Given the description of an element on the screen output the (x, y) to click on. 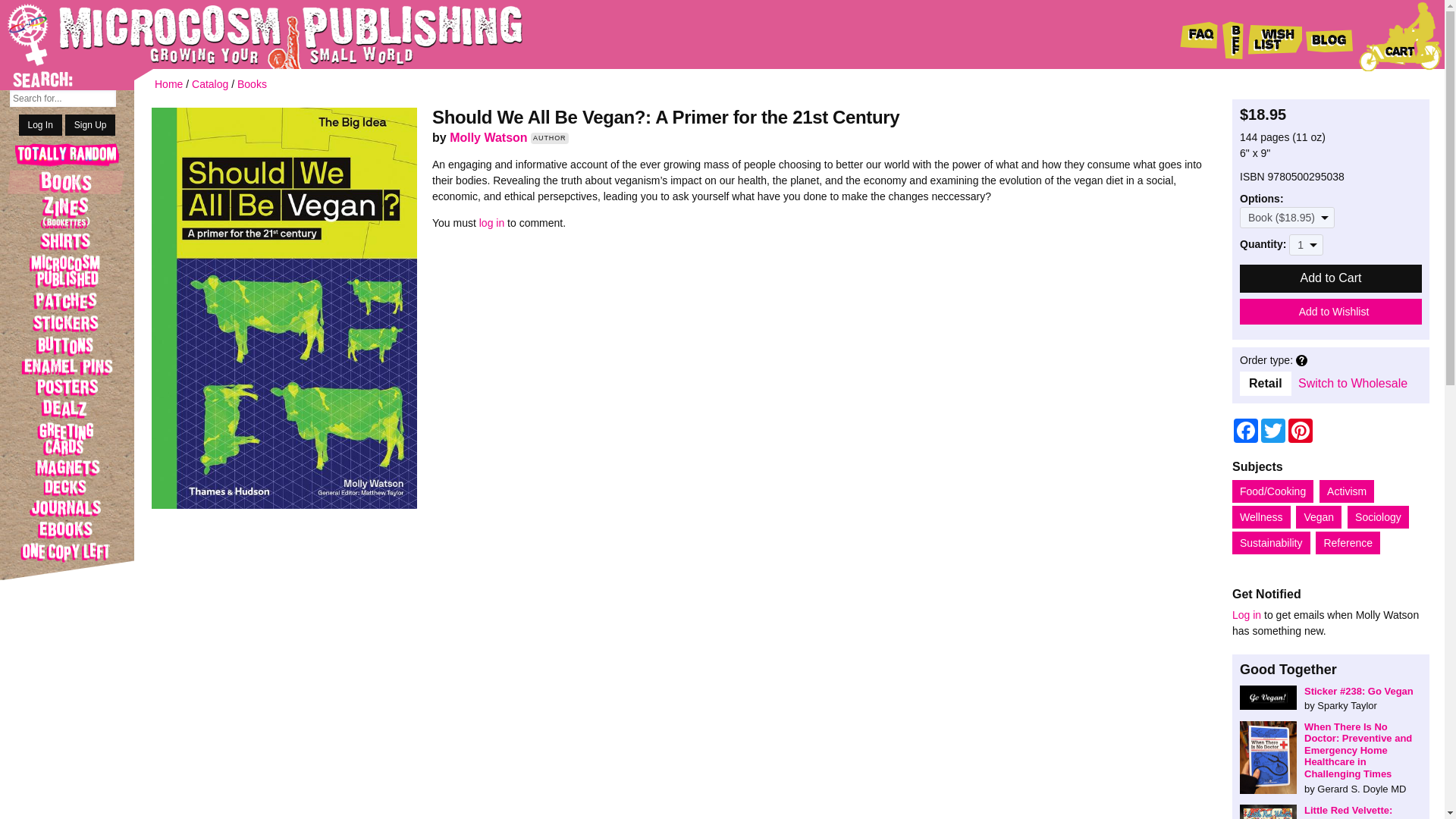
cart (1399, 36)
Little Red Velvette: Prince-Inspired Baking at Home (1331, 811)
Jump to totally random title (66, 156)
Shirts (66, 241)
Log In (40, 124)
Sign Up (90, 124)
Add to Wishlist (1331, 311)
Zines (66, 212)
back to Microcosm Publishing homepage (242, 34)
Add to Cart (1331, 278)
Totally Random (66, 156)
Books (66, 181)
